Given the description of an element on the screen output the (x, y) to click on. 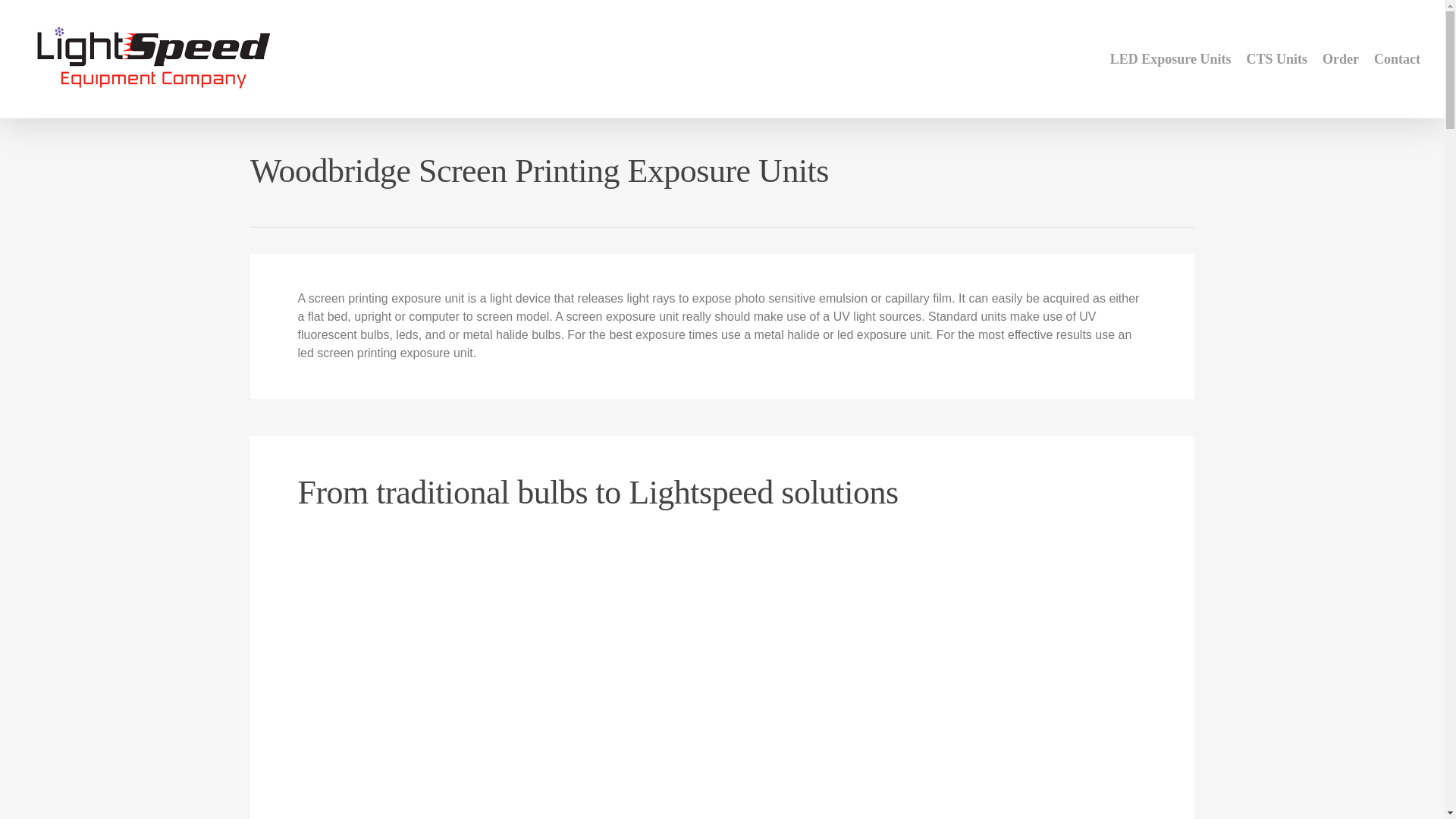
CTS Units (1276, 58)
LED Exposure Units (1170, 58)
Order (1340, 58)
Contact (1397, 58)
Patent Pending LED UV Exposure Unit (1170, 58)
